Given the description of an element on the screen output the (x, y) to click on. 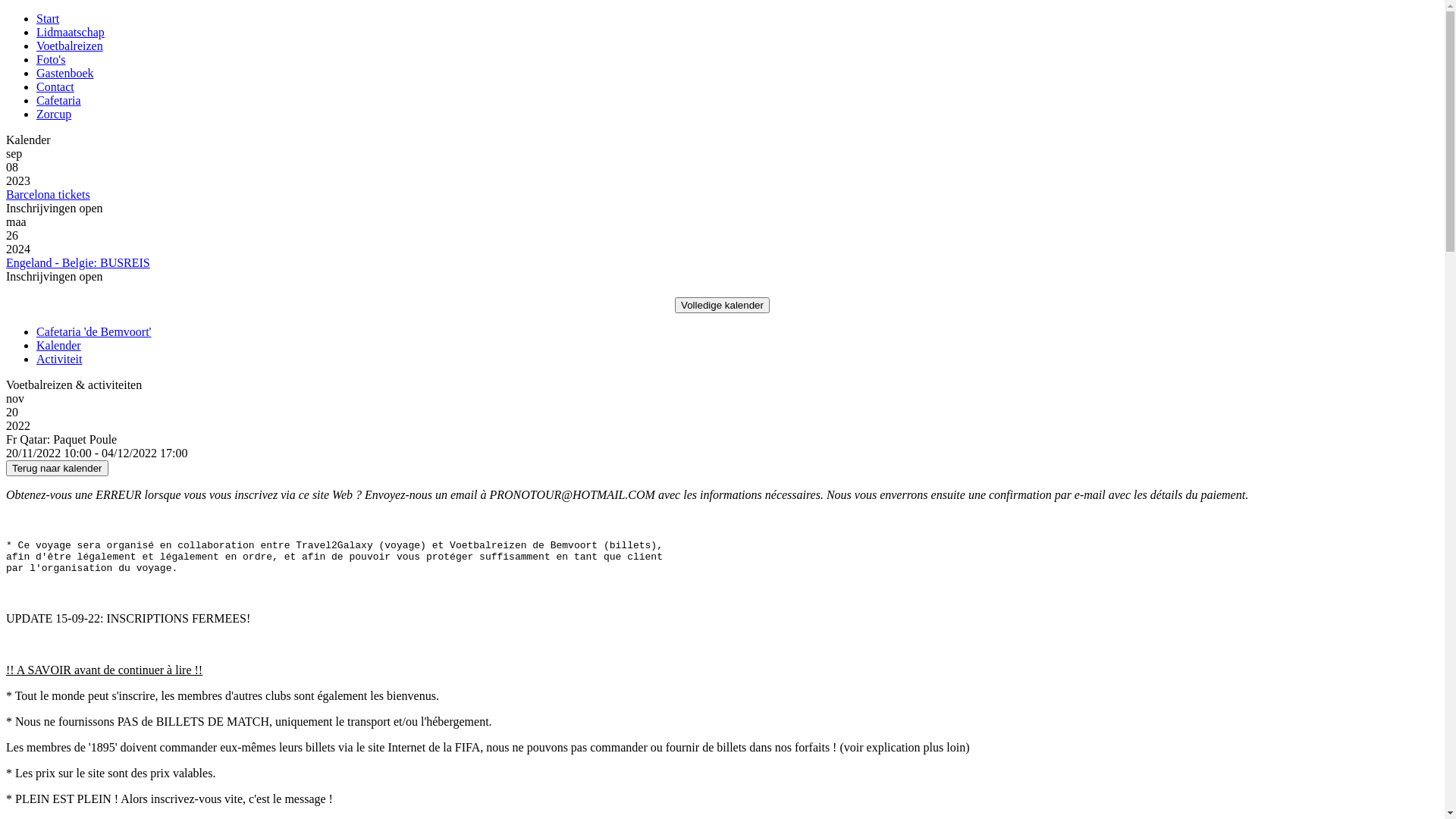
Terug naar kalender Element type: text (57, 468)
Start Element type: text (47, 18)
Volledige kalender Element type: text (721, 304)
Contact Element type: text (55, 86)
Engeland - Belgie: BUSREIS Element type: text (78, 262)
Activiteit Element type: text (58, 358)
Foto's Element type: text (50, 59)
Voetbalreizen Element type: text (69, 45)
Zorcup Element type: text (53, 113)
Volledige kalender Element type: text (721, 305)
Cafetaria 'de Bemvoort' Element type: text (93, 331)
Cafetaria Element type: text (58, 100)
Kalender Element type: text (58, 344)
Terug naar kalender Element type: text (57, 467)
Gastenboek Element type: text (65, 72)
Barcelona tickets Element type: text (48, 194)
Lidmaatschap Element type: text (70, 31)
